Given the description of an element on the screen output the (x, y) to click on. 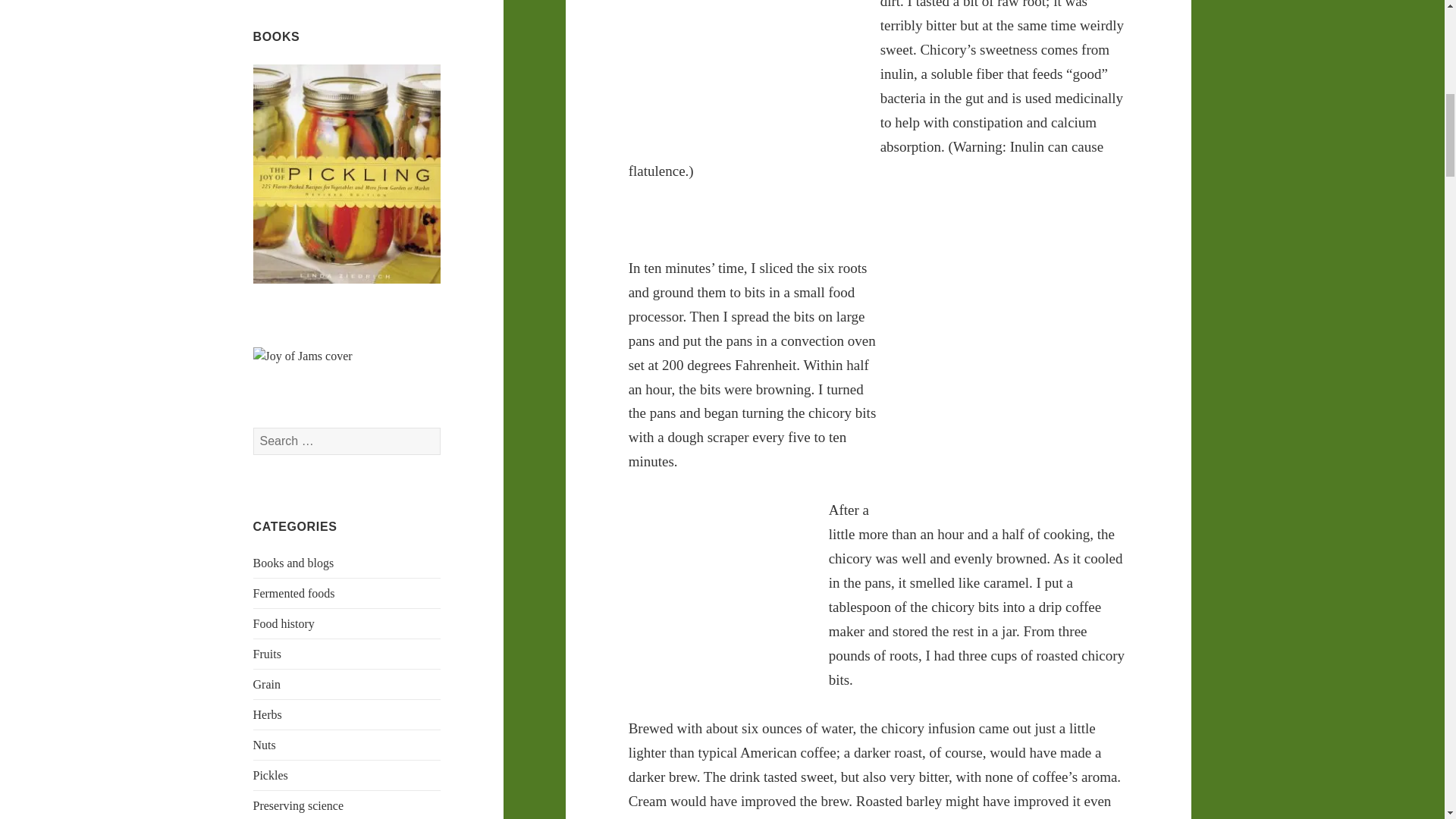
Books and blogs (293, 562)
Fermented foods (293, 593)
Nuts (264, 744)
Grain (267, 684)
Herbs (267, 714)
Pickles (270, 775)
endive roots (742, 58)
endive, roasted (716, 592)
Preserving science (298, 805)
Food history (283, 623)
Fruits (267, 653)
endive roots, grated (1015, 375)
